Given the description of an element on the screen output the (x, y) to click on. 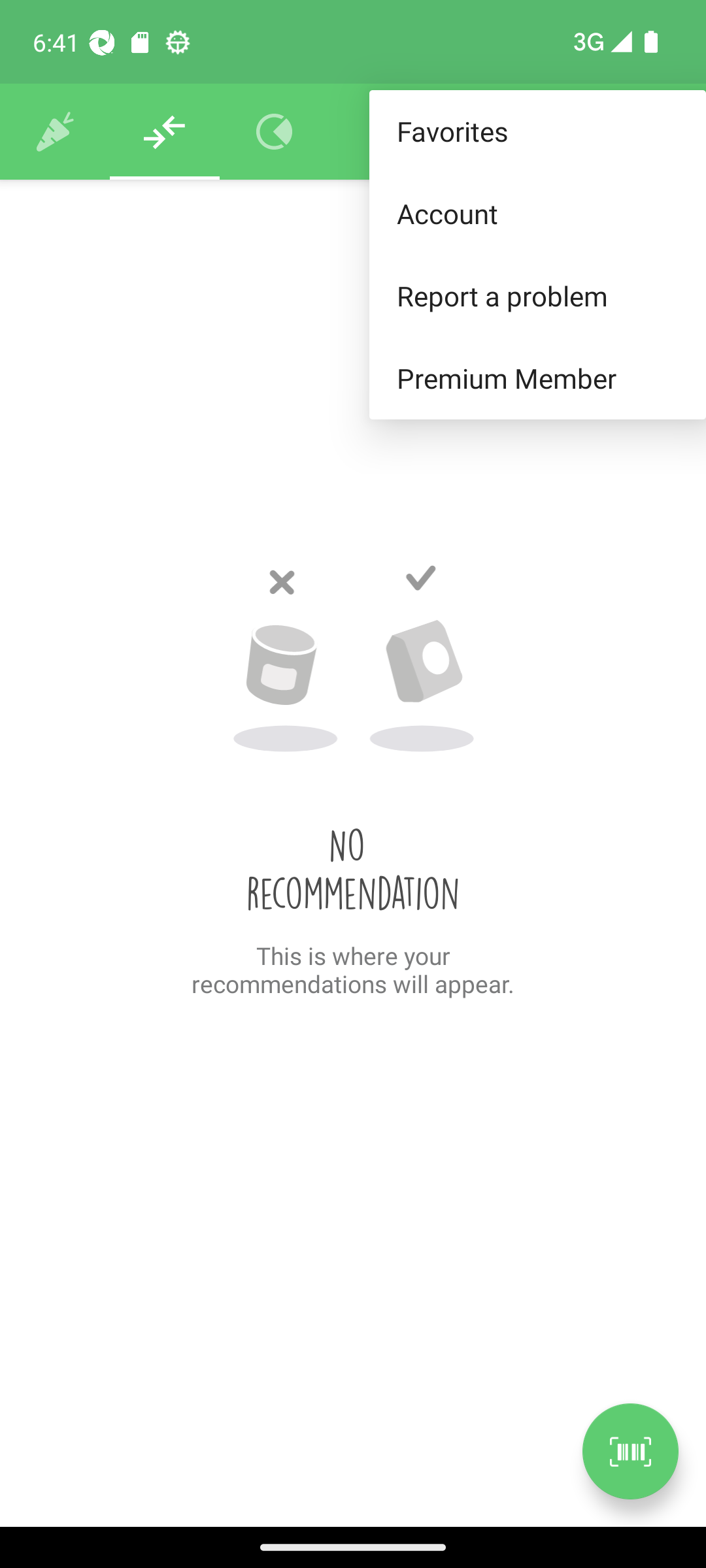
Favorites (537, 131)
Account (537, 213)
Report a problem (537, 295)
Premium Member (537, 378)
